Given the description of an element on the screen output the (x, y) to click on. 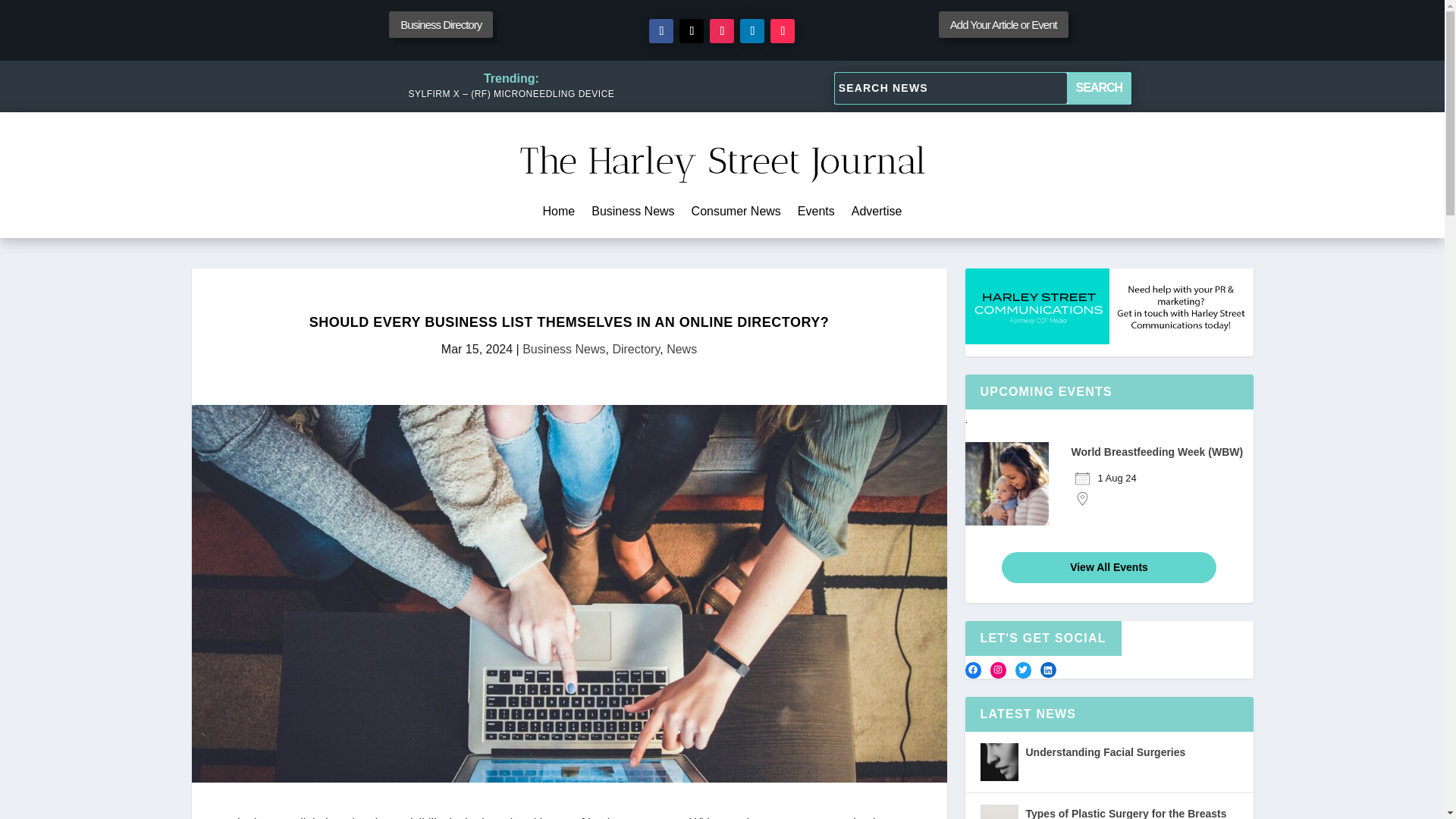
Directory (635, 349)
Business Directory (440, 24)
Search (1099, 88)
Search (1099, 88)
Add Your Article or Event (1003, 24)
Events (815, 214)
Search (1099, 88)
Advertise (876, 214)
Follow on Instagram (721, 30)
Follow on LinkedIn (751, 30)
Aesthetic news (721, 155)
Follow on X (691, 30)
Business News (632, 214)
Home (559, 214)
Consumer News (735, 214)
